Given the description of an element on the screen output the (x, y) to click on. 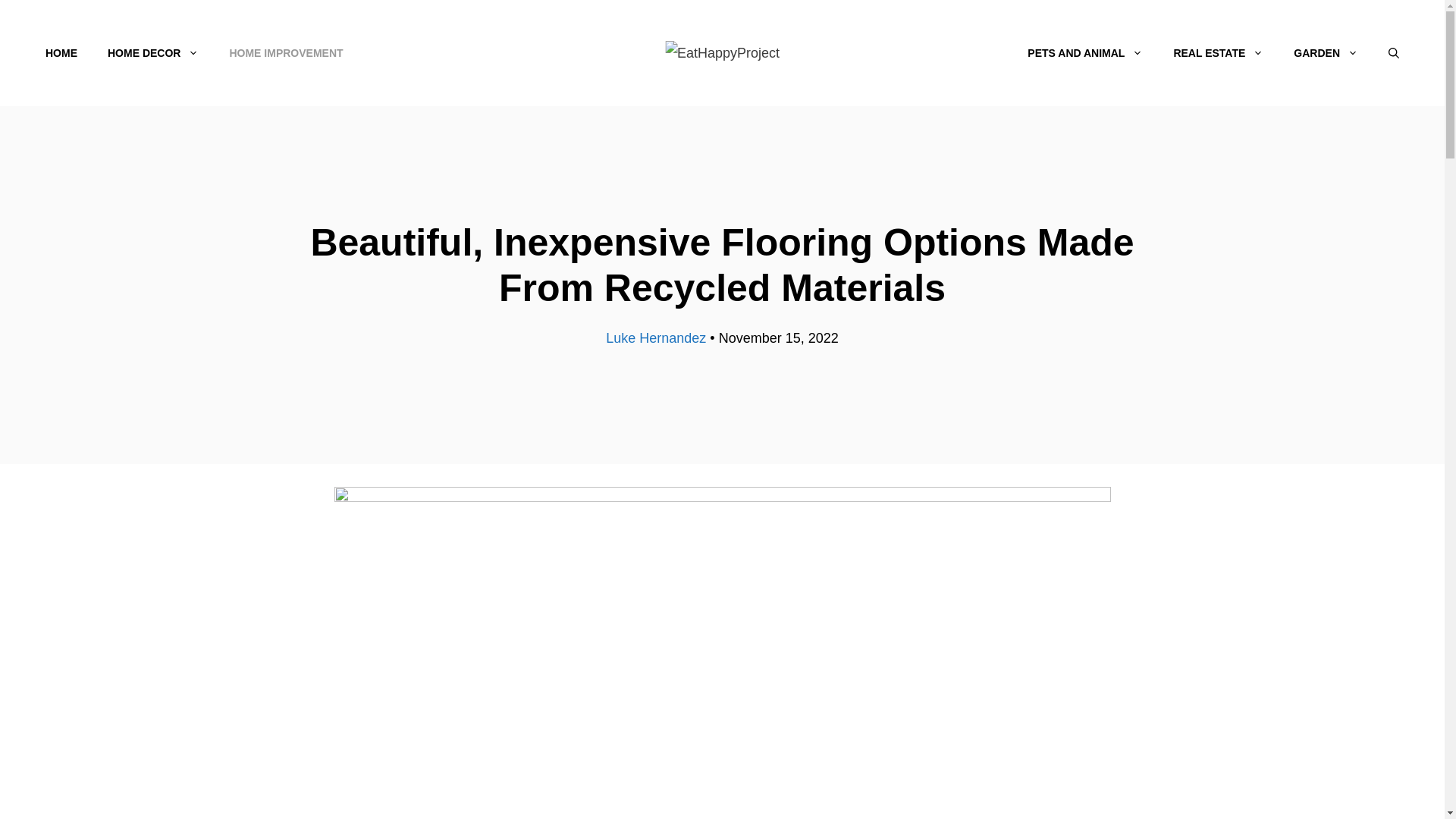
HOME DECOR (153, 53)
MENU ITEM SEPARATOR (685, 53)
HOME (61, 53)
View all posts by Luke Hernandez (655, 337)
REAL ESTATE (1217, 53)
GARDEN (1325, 53)
HOME IMPROVEMENT (286, 53)
PETS AND ANIMAL (1084, 53)
